Given the description of an element on the screen output the (x, y) to click on. 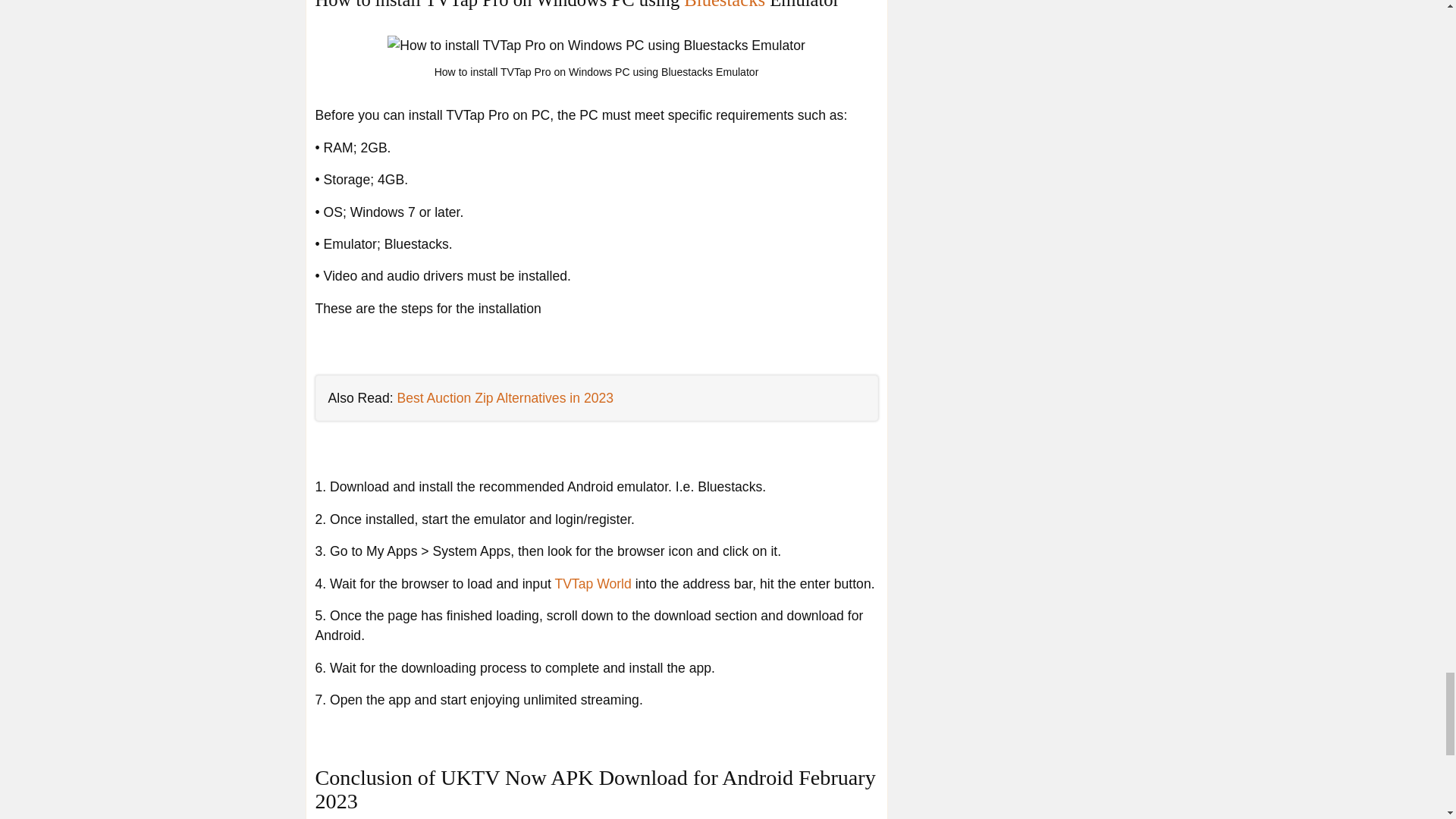
TVTap World (592, 583)
Best Auction Zip Alternatives in 2023 (504, 397)
Bluestacks (724, 4)
